Given the description of an element on the screen output the (x, y) to click on. 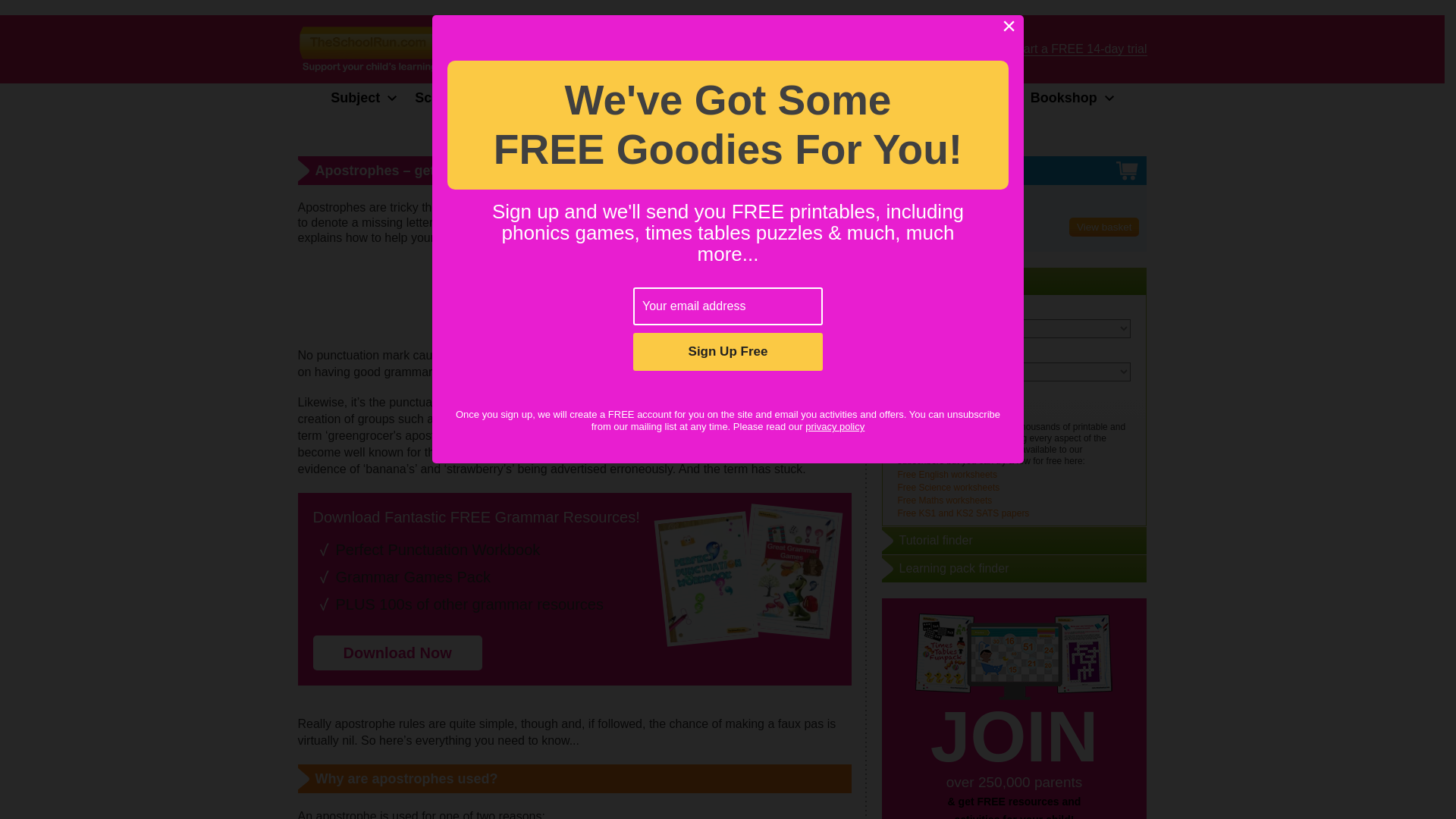
Search (776, 49)
Apostrophe rules (778, 255)
Search (776, 49)
Login (830, 49)
Search (929, 404)
Enter the terms you wish to search for. (661, 49)
Register For FREE (925, 49)
The School Run (388, 48)
Sign Up Free (727, 351)
Start a FREE 14-day trial (1079, 49)
